Given the description of an element on the screen output the (x, y) to click on. 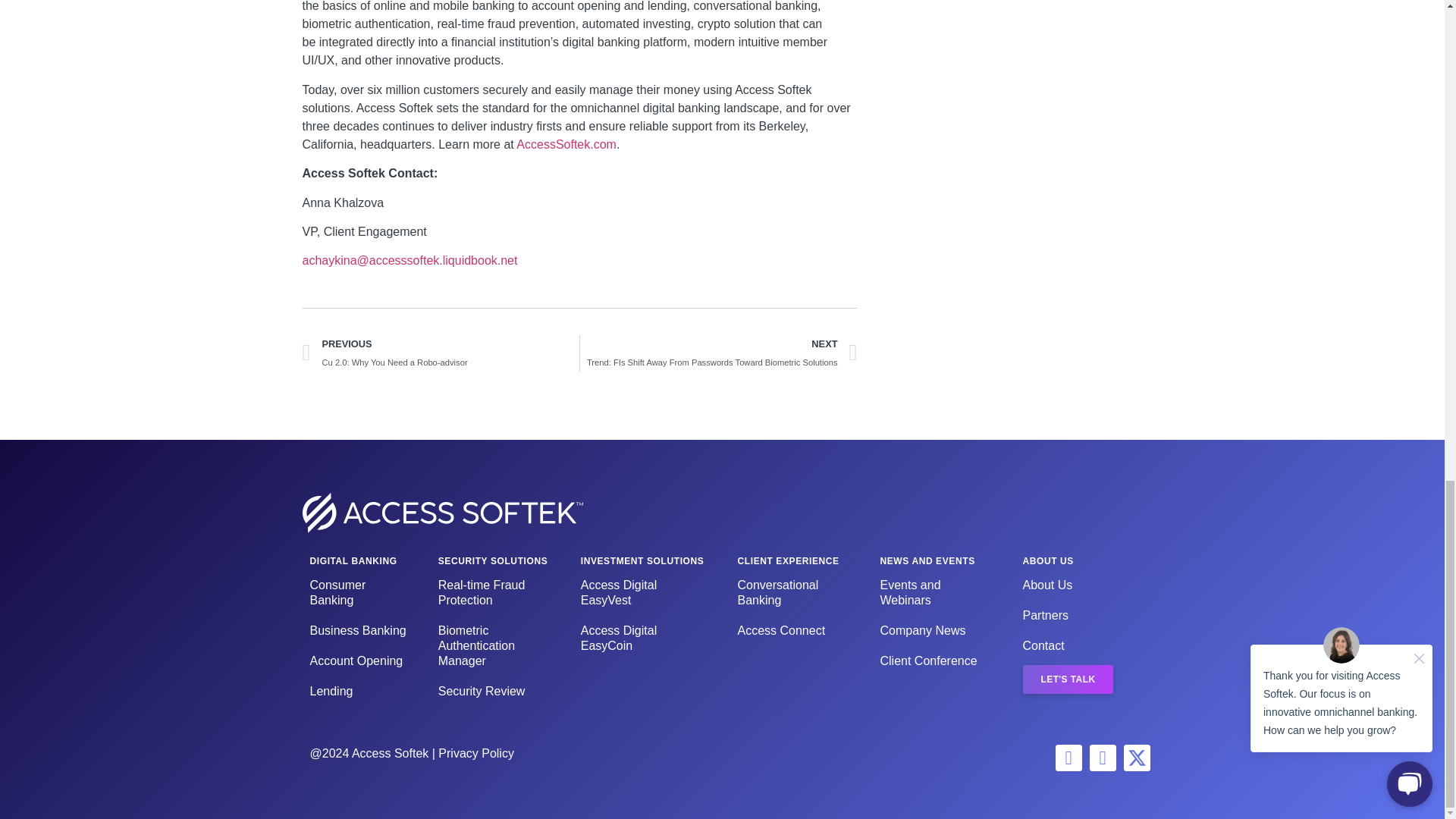
Account Opening (358, 661)
 AccessSoftek.com (564, 144)
Consumer Banking (358, 592)
Business Banking (439, 352)
